Given the description of an element on the screen output the (x, y) to click on. 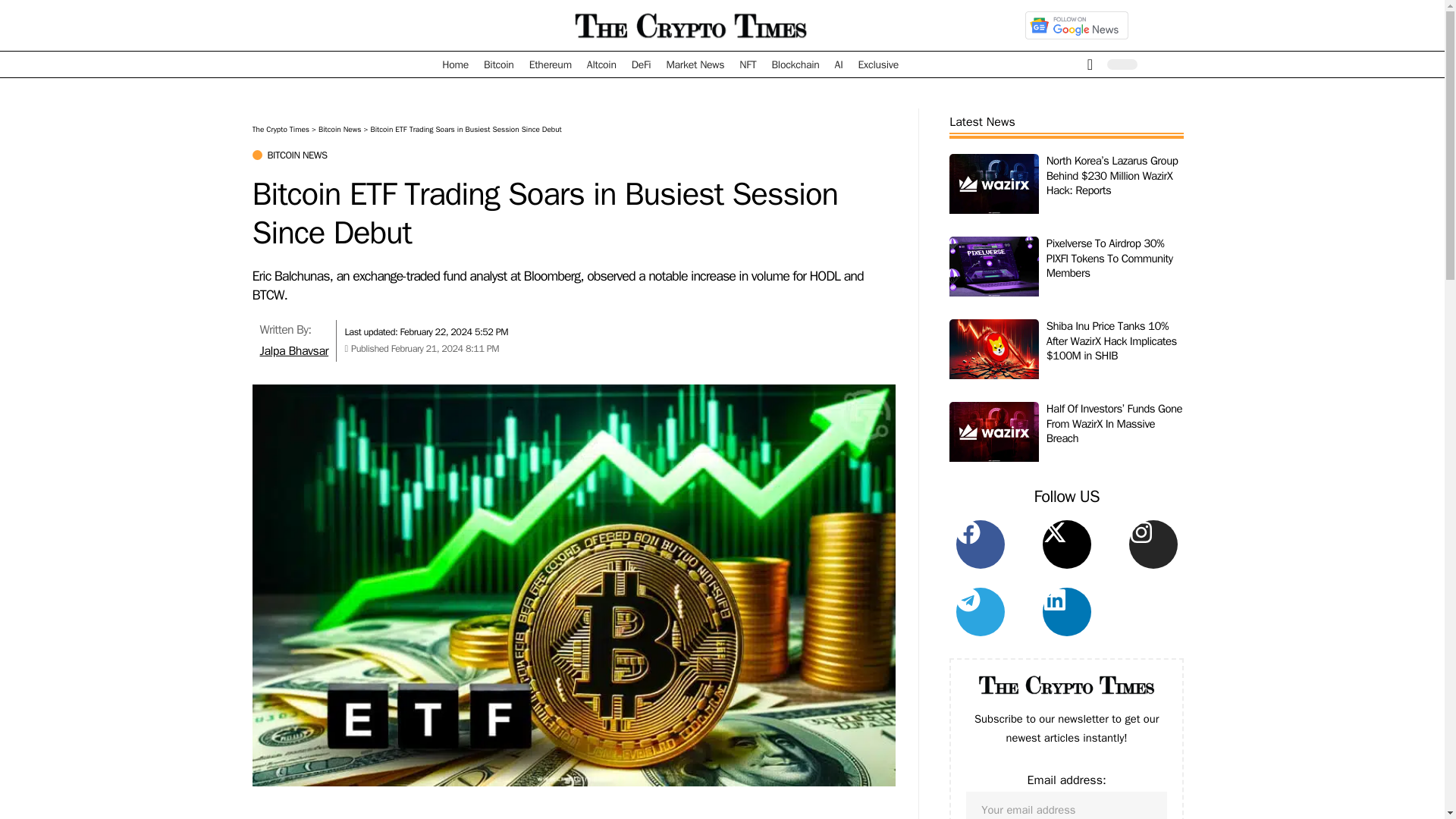
DeFi (641, 64)
Bitcoin (498, 64)
Go to The Crypto Times. (279, 129)
Altcoin (601, 64)
Ethereum (550, 64)
Exclusive (877, 64)
Market News (695, 64)
NFT (747, 64)
Home (454, 64)
Blockchain (794, 64)
Go to the Bitcoin News Category archives. (339, 129)
AI (838, 64)
